Given the description of an element on the screen output the (x, y) to click on. 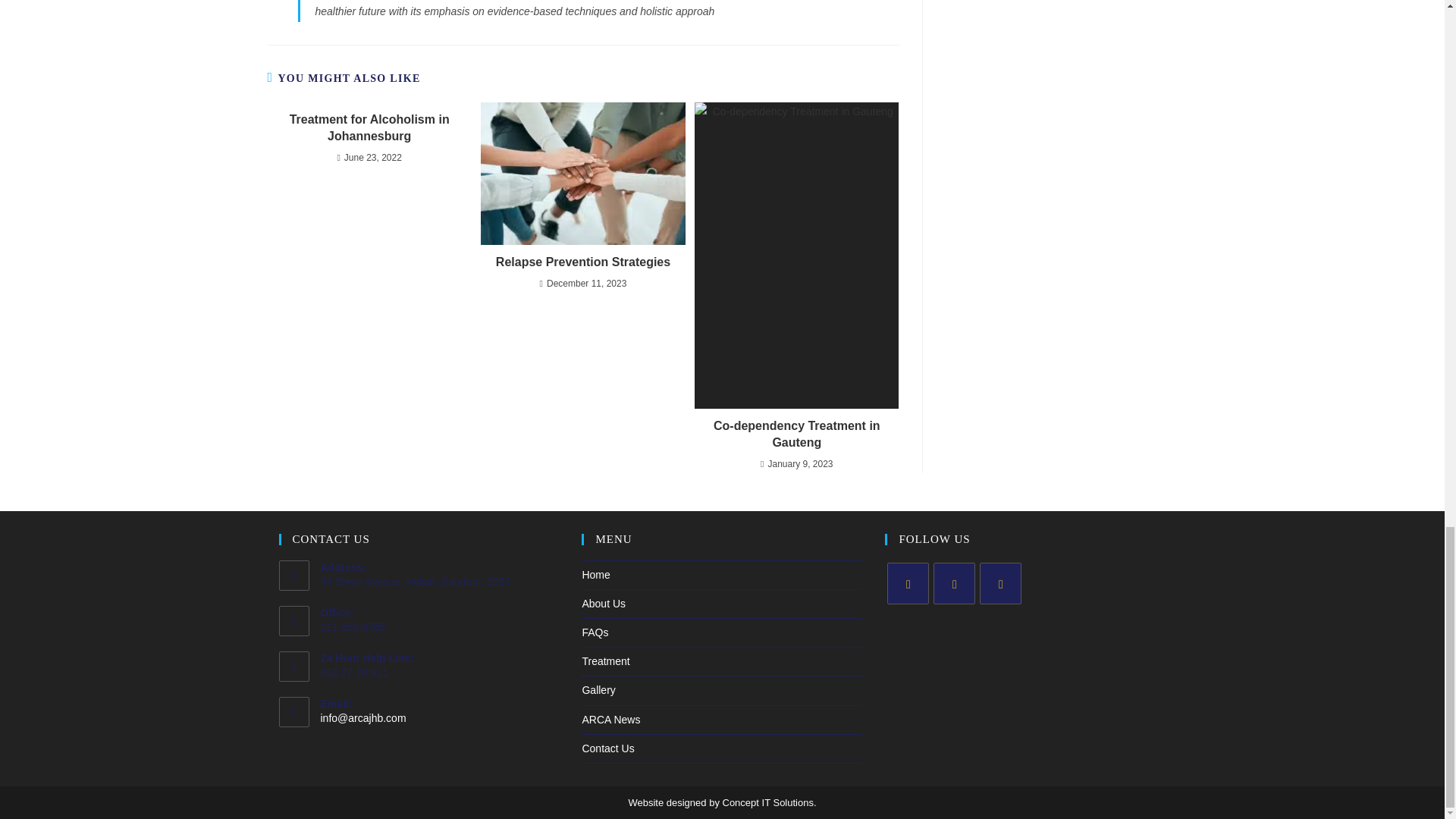
Co-dependency Treatment in Gauteng (796, 434)
Treatment for Alcoholism in Johannesburg (368, 128)
Relapse Prevention Strategies (582, 262)
